Given the description of an element on the screen output the (x, y) to click on. 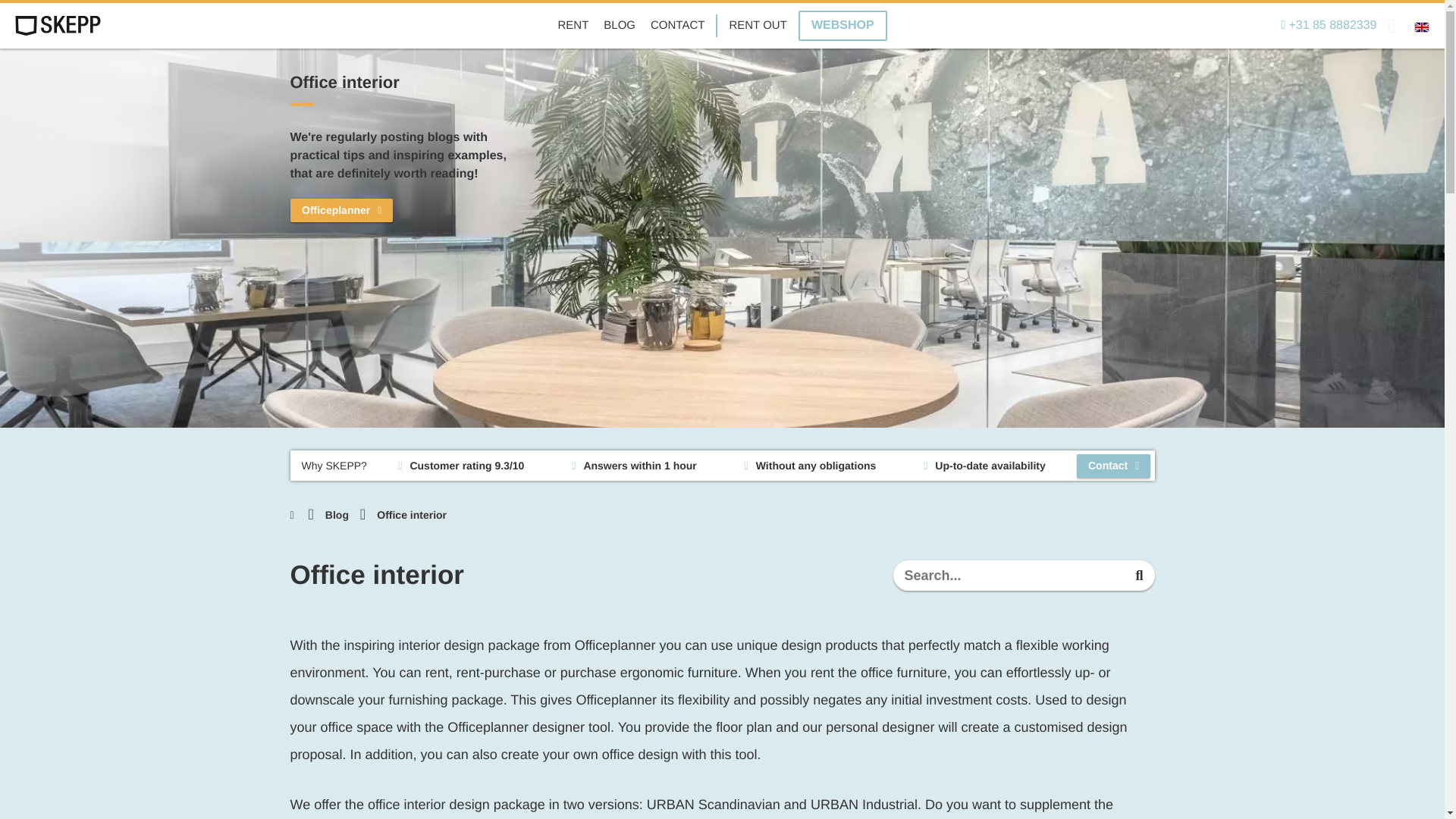
Rent (573, 25)
Rent out (757, 25)
Contact (1113, 465)
WEBSHOP (841, 25)
Officeplanner (340, 210)
BLOG (619, 25)
CONTACT (677, 25)
Blog (336, 514)
Contact (677, 25)
Webshop (841, 25)
